Given the description of an element on the screen output the (x, y) to click on. 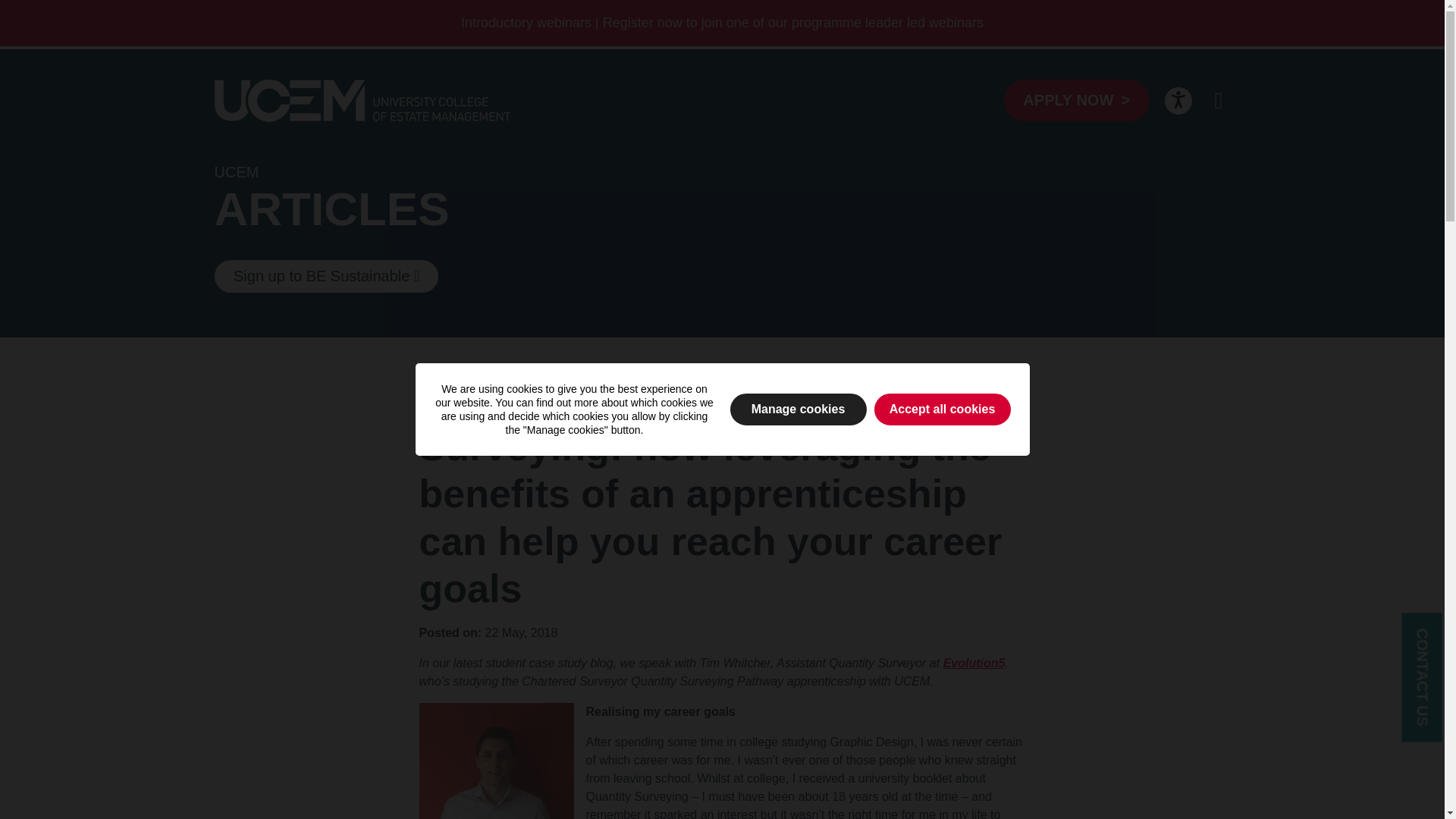
Accessibility (1178, 100)
Apply now (1076, 100)
APPLY NOW (1076, 100)
Accept all cookies (941, 409)
Manage cookies (797, 409)
